Given the description of an element on the screen output the (x, y) to click on. 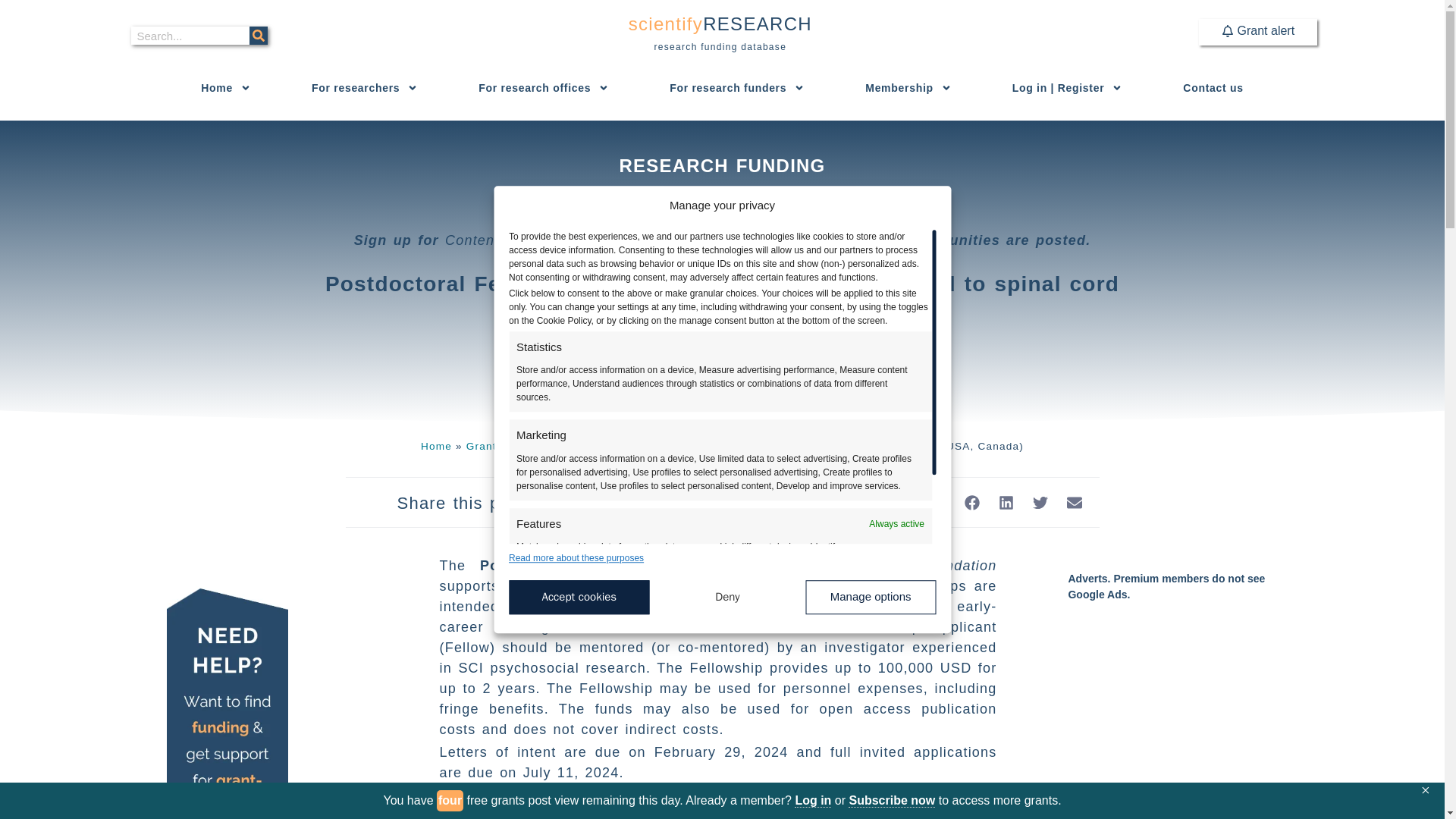
Deny (727, 596)
Home (226, 87)
Log in (812, 800)
Manage options (870, 596)
For researchers (364, 87)
Subscribe now (891, 800)
Grant alert (720, 33)
Accept cookies (1257, 31)
Read more about these purposes (578, 596)
